Given the description of an element on the screen output the (x, y) to click on. 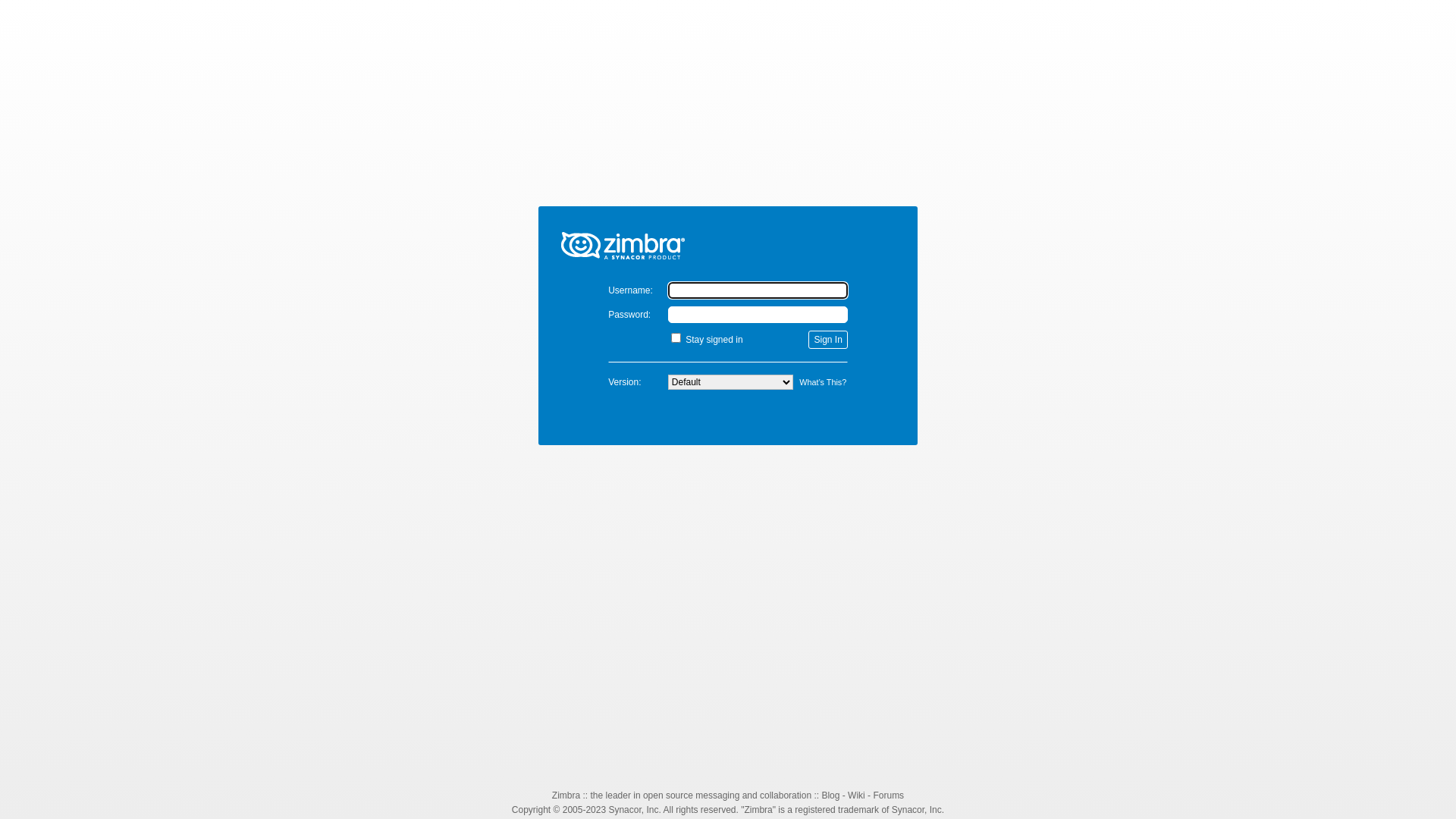
Sign In Element type: text (827, 339)
Zimbra Element type: text (727, 236)
Zimbra Element type: text (566, 795)
Blog Element type: text (830, 795)
Forums Element type: text (887, 795)
Wiki Element type: text (856, 795)
